Given the description of an element on the screen output the (x, y) to click on. 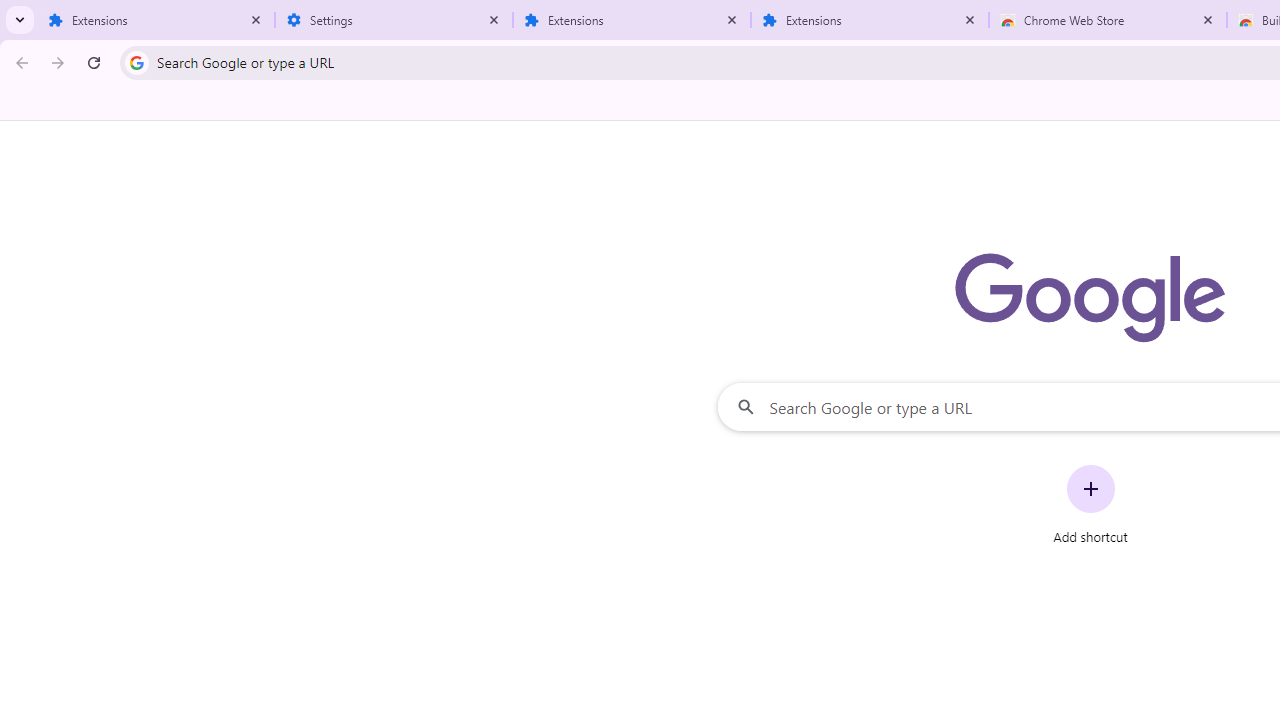
Extensions (632, 20)
System (10, 11)
Settings (394, 20)
Reload (93, 62)
Extensions (870, 20)
Extensions (156, 20)
Chrome Web Store (1108, 20)
System (10, 11)
Add shortcut (1090, 504)
Back (19, 62)
Search icon (136, 62)
Forward (57, 62)
Search tabs (20, 20)
Close (1208, 19)
